Given the description of an element on the screen output the (x, y) to click on. 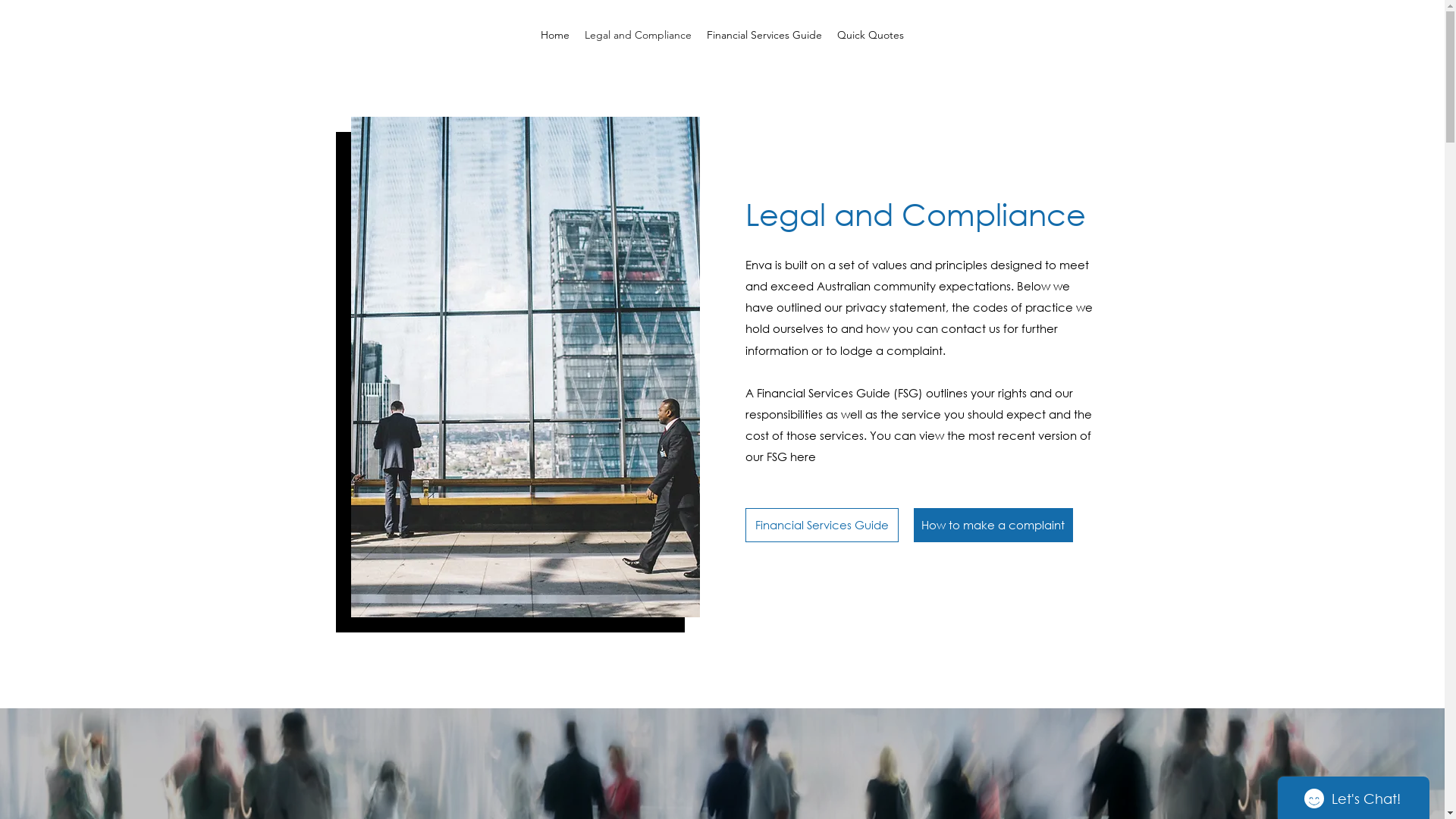
Home Element type: text (555, 34)
Financial Services Guide Element type: text (764, 34)
Quick Quotes Element type: text (870, 34)
Financial Services Guide Element type: text (820, 525)
How to make a complaint Element type: text (992, 525)
Legal and Compliance Element type: text (638, 34)
